Given the description of an element on the screen output the (x, y) to click on. 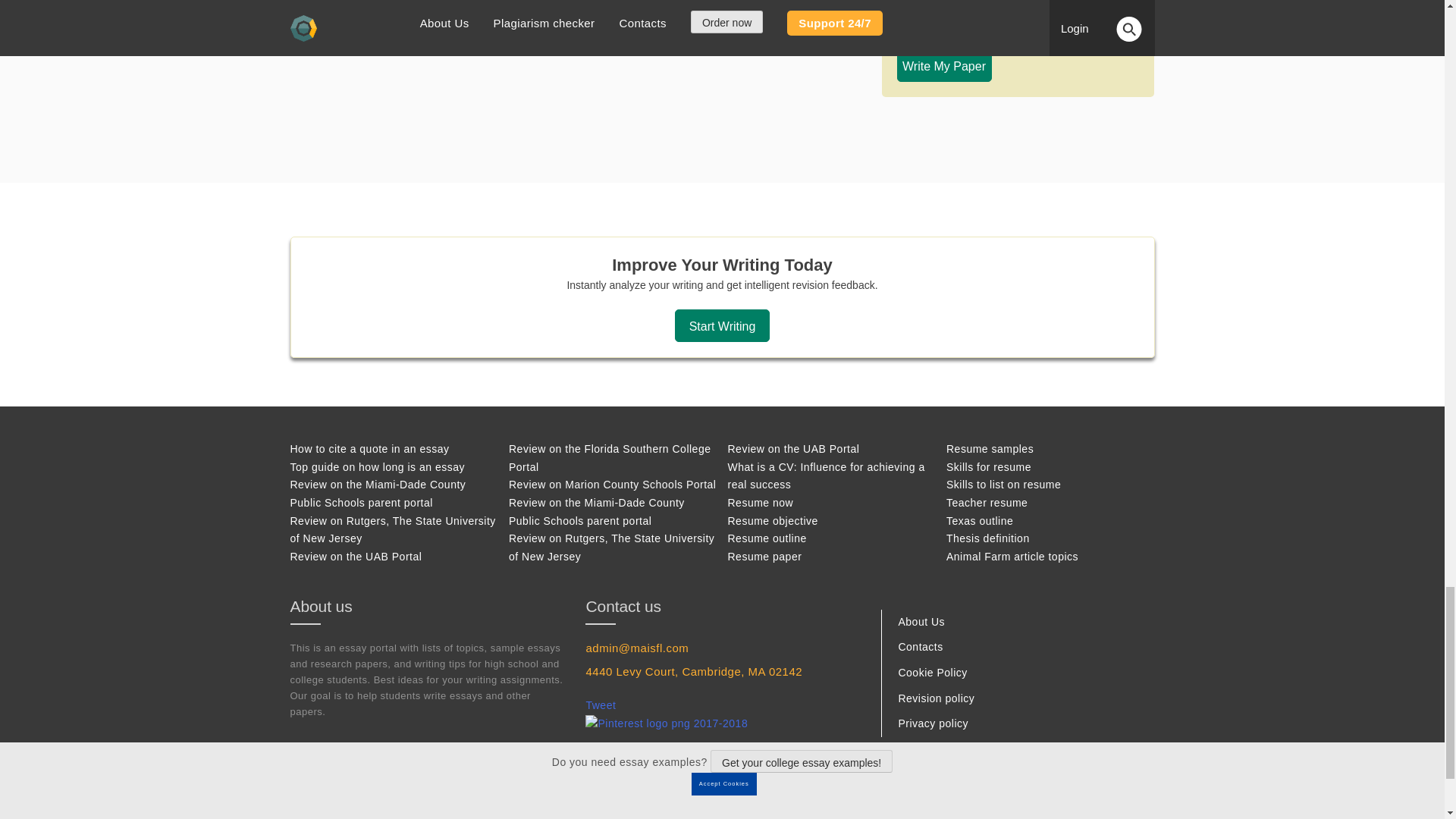
Content Protection by DMCA.com (900, 816)
